Given the description of an element on the screen output the (x, y) to click on. 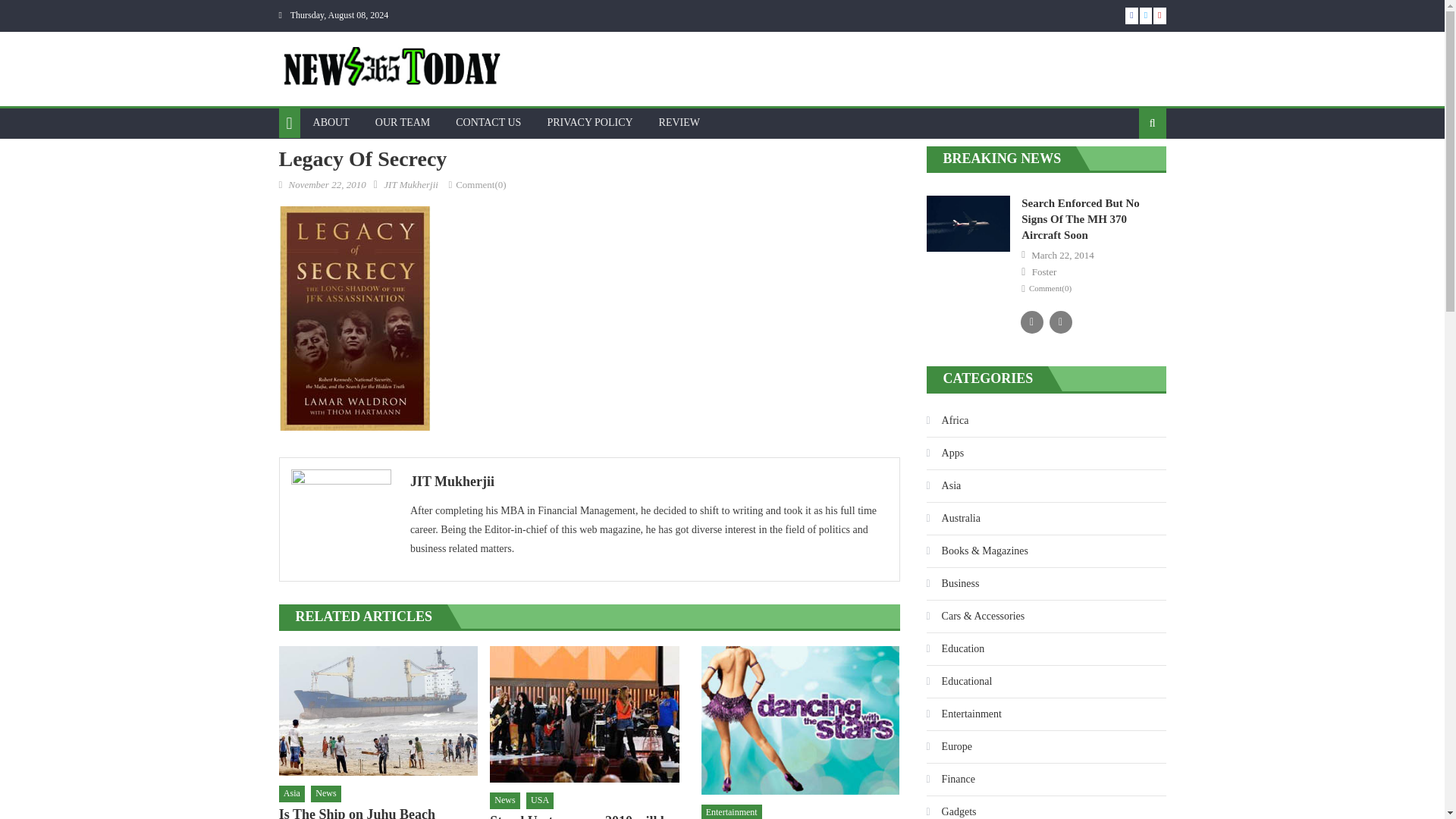
Stand Up to cancer 2010 will be a great event tonight (588, 816)
PRIVACY POLICY (589, 122)
Asia (291, 793)
CONTACT US (488, 122)
Entertainment (731, 811)
Search (1128, 171)
OUR TEAM (402, 122)
REVIEW (679, 122)
Search Enforced But No Signs Of The MH 370 Aircraft Soon (1081, 218)
Skip to content (32, 9)
